Given the description of an element on the screen output the (x, y) to click on. 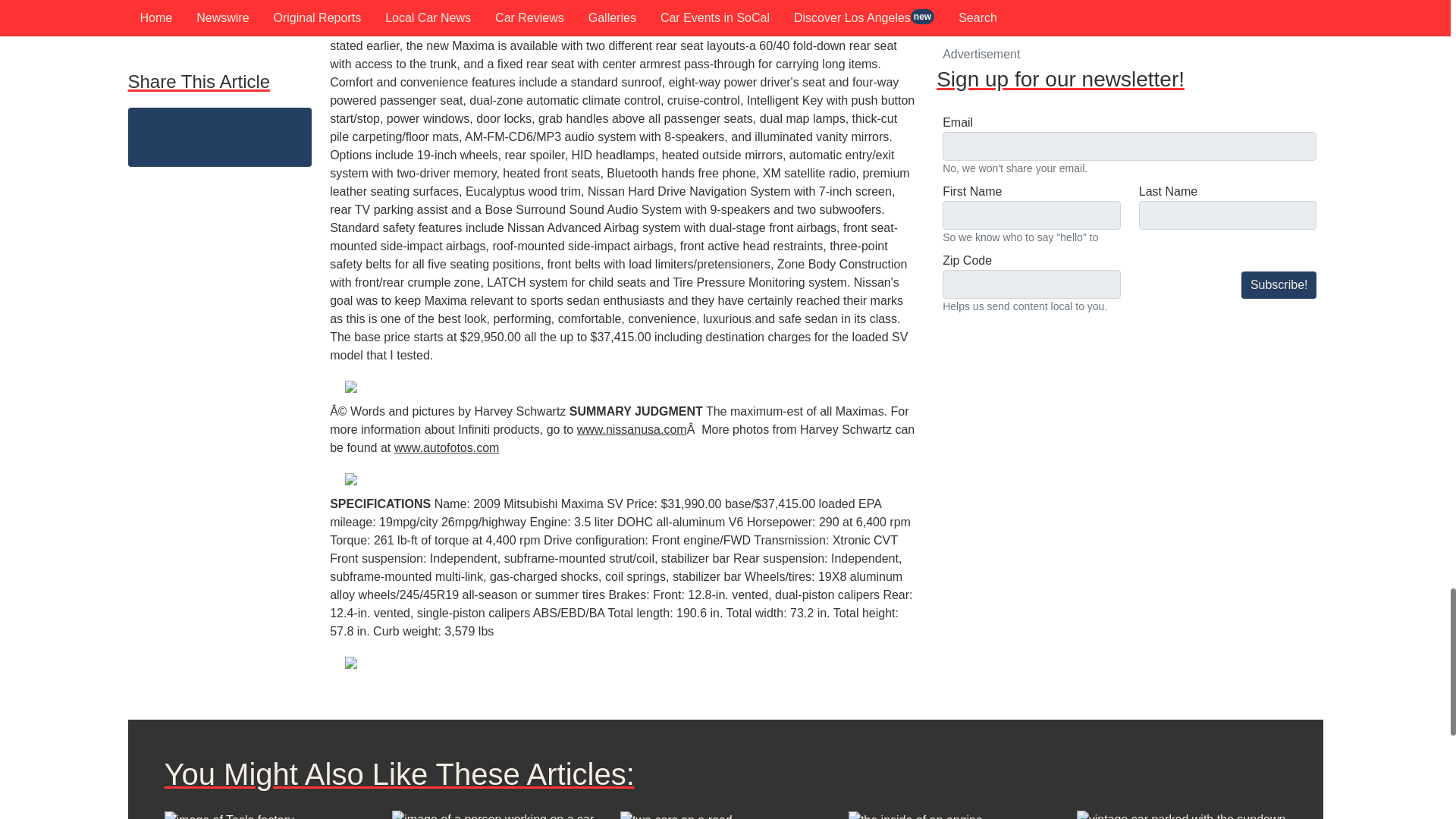
www.autofotos.com (446, 447)
www.nissanusa.com (631, 429)
